Given the description of an element on the screen output the (x, y) to click on. 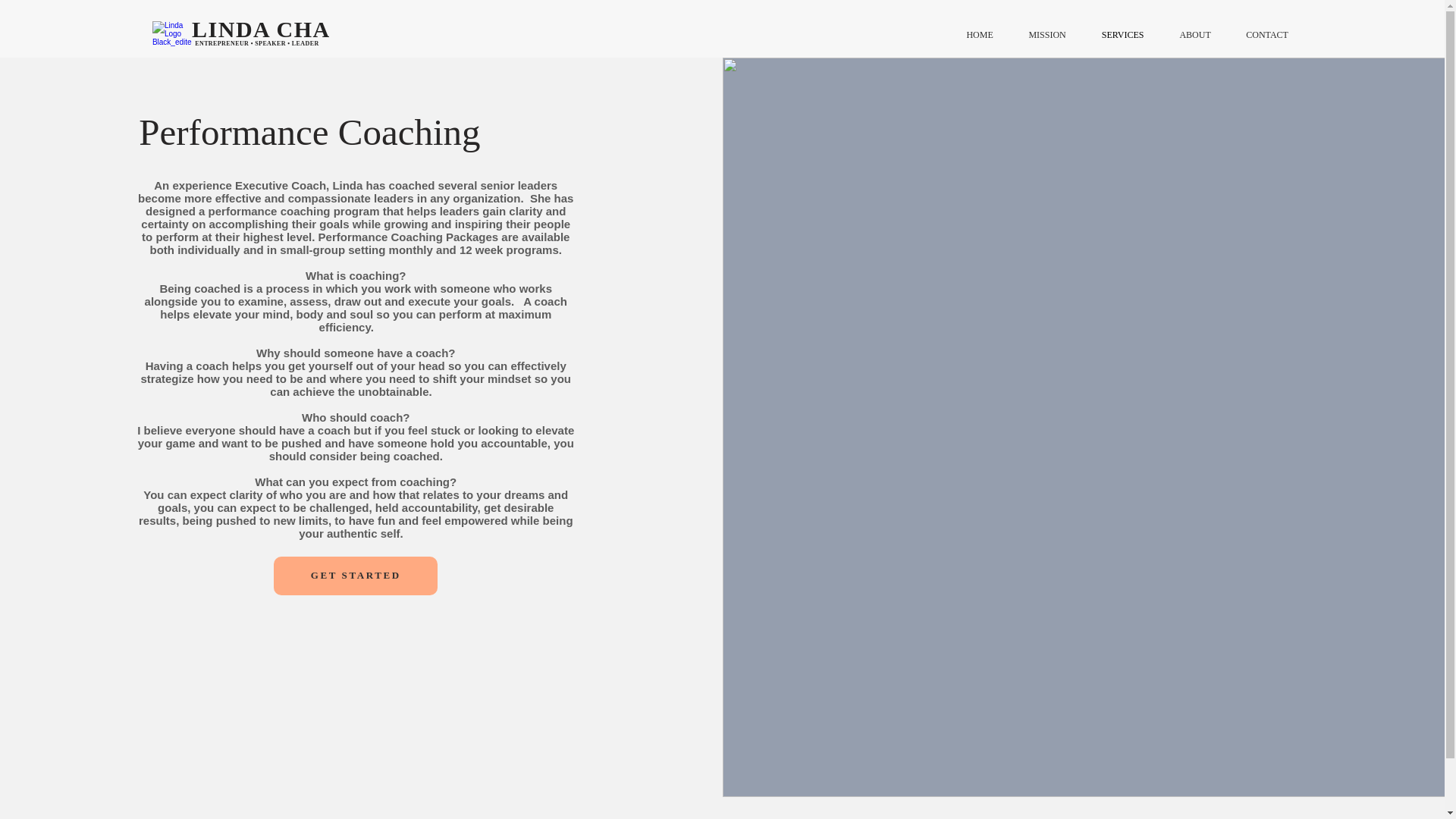
GET STARTED (355, 575)
ABOUT (1194, 34)
MISSION (1046, 34)
CONTACT (1267, 34)
HOME (979, 34)
SERVICES (1122, 34)
